Given the description of an element on the screen output the (x, y) to click on. 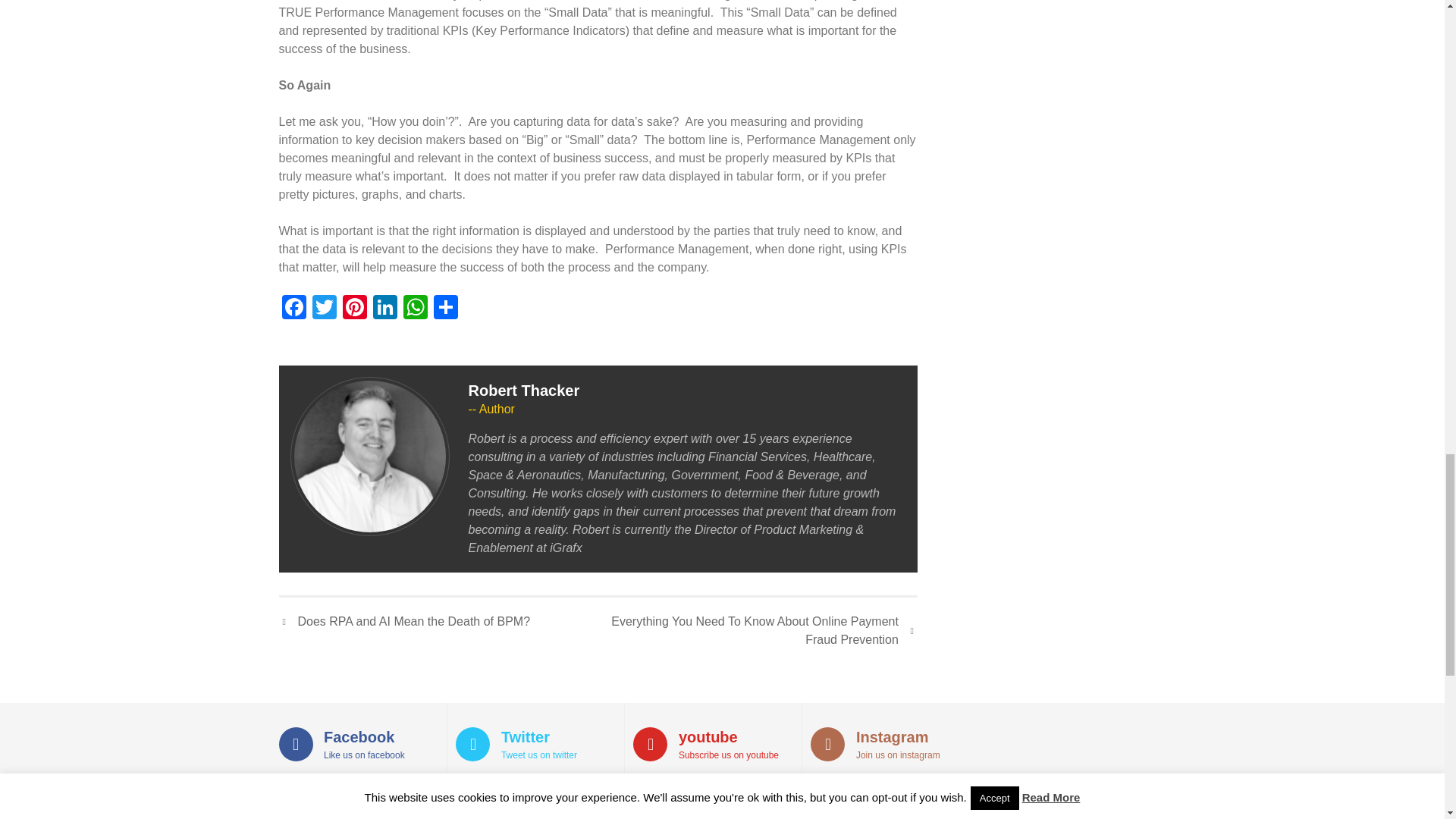
Pinterest (354, 308)
Posts by Robert Thacker (523, 390)
Twitter (323, 308)
LinkedIn (384, 308)
Facebook (293, 308)
WhatsApp (415, 308)
